Given the description of an element on the screen output the (x, y) to click on. 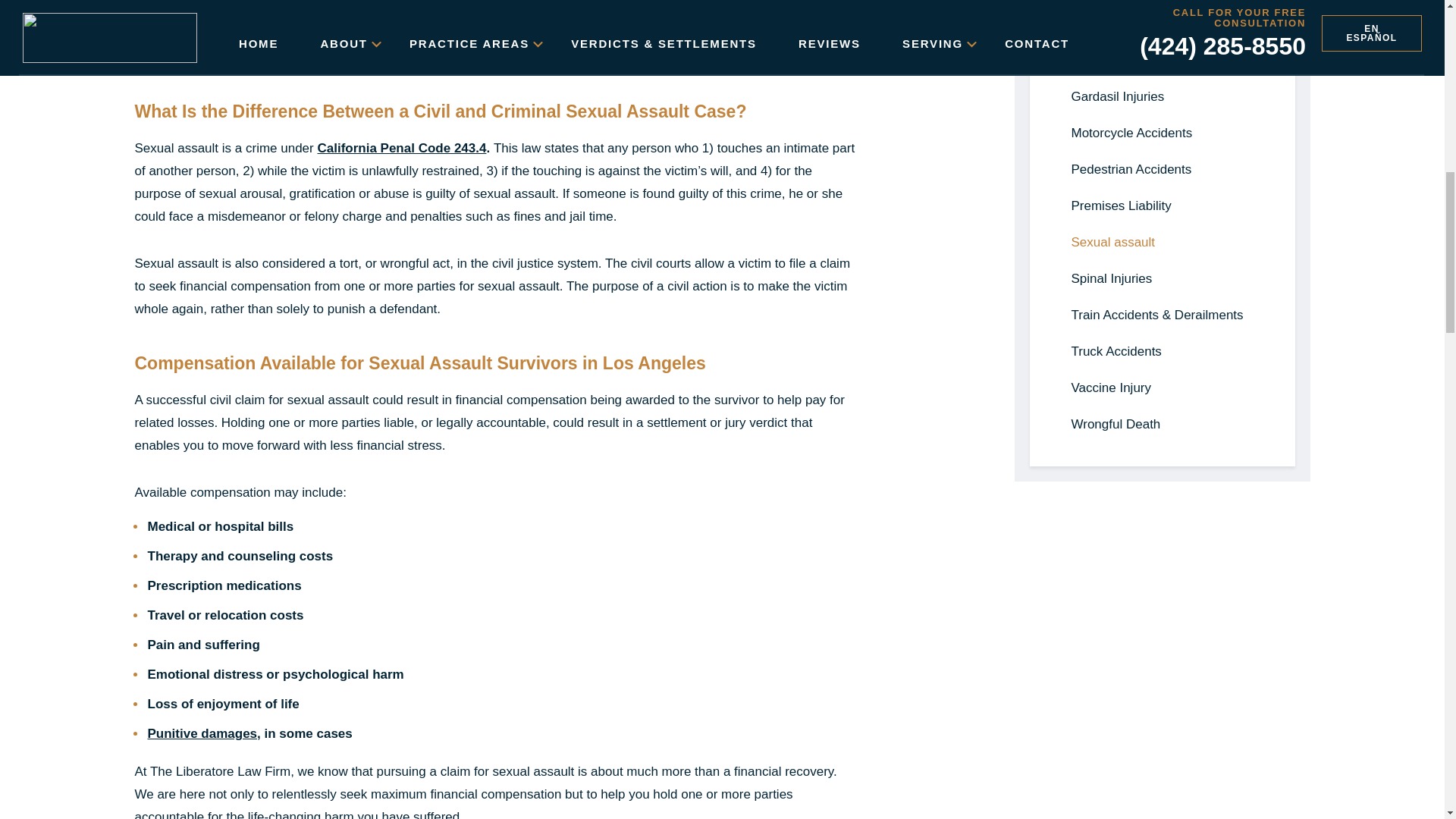
Punitive damages (202, 733)
Catastrophic Injuries (1162, 23)
California Penal Code 243.4 (401, 147)
Dog Attacks (1162, 60)
Car Accidents (1162, 2)
more than 20 years (205, 13)
